Given the description of an element on the screen output the (x, y) to click on. 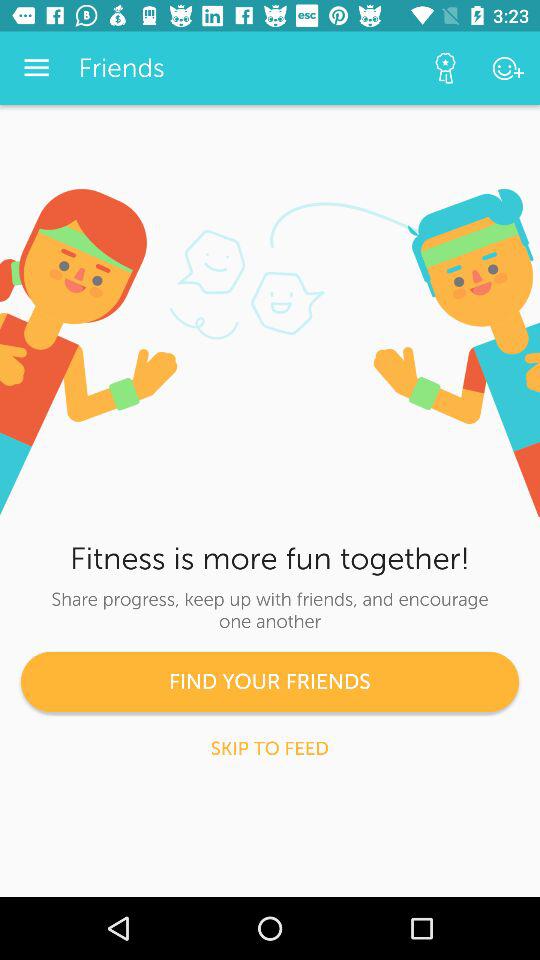
open item above skip to feed item (270, 681)
